Given the description of an element on the screen output the (x, y) to click on. 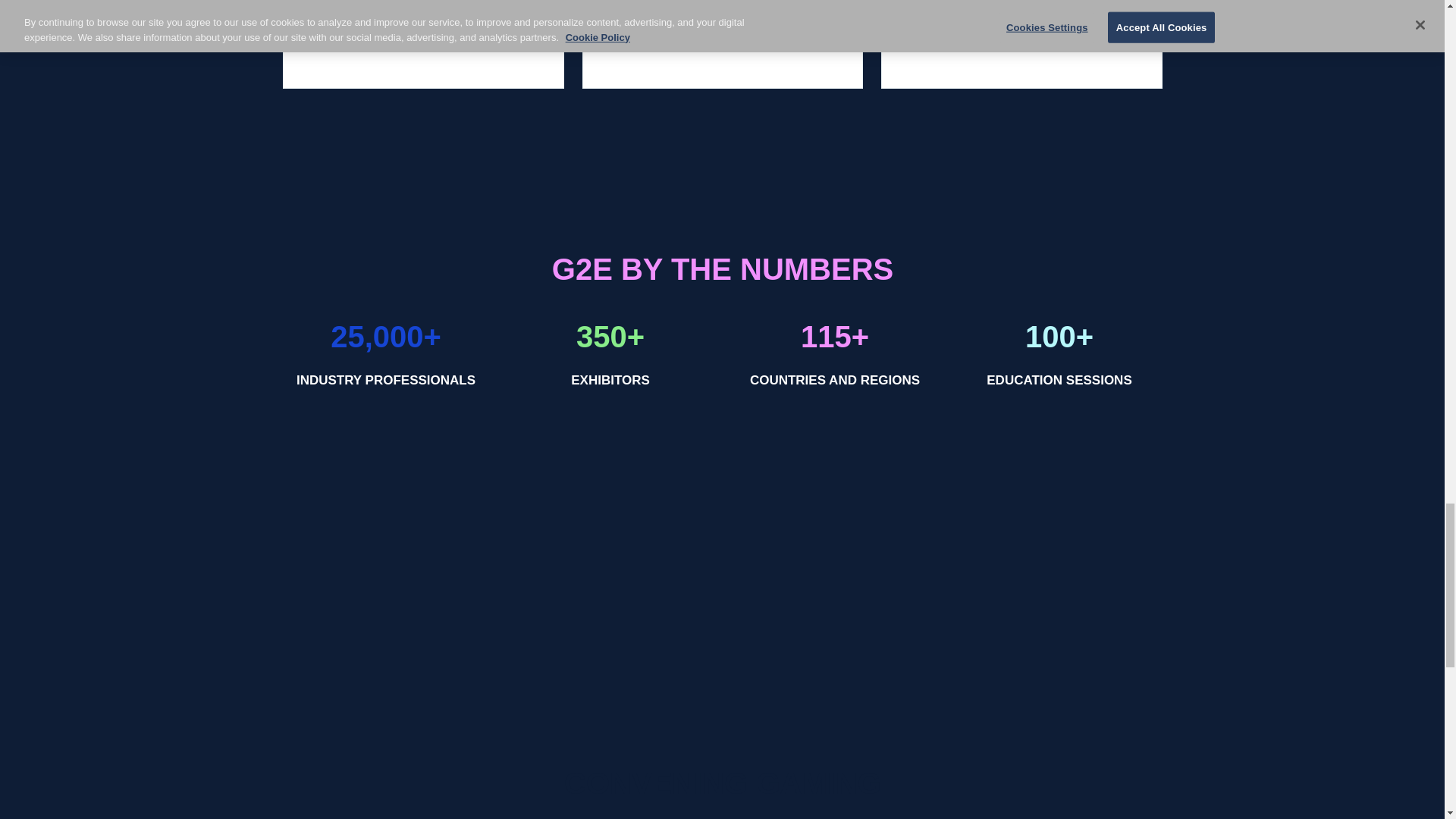
3rd party ad content (721, 633)
3rd party ad content (1021, 633)
3rd party ad content (422, 633)
